Given the description of an element on the screen output the (x, y) to click on. 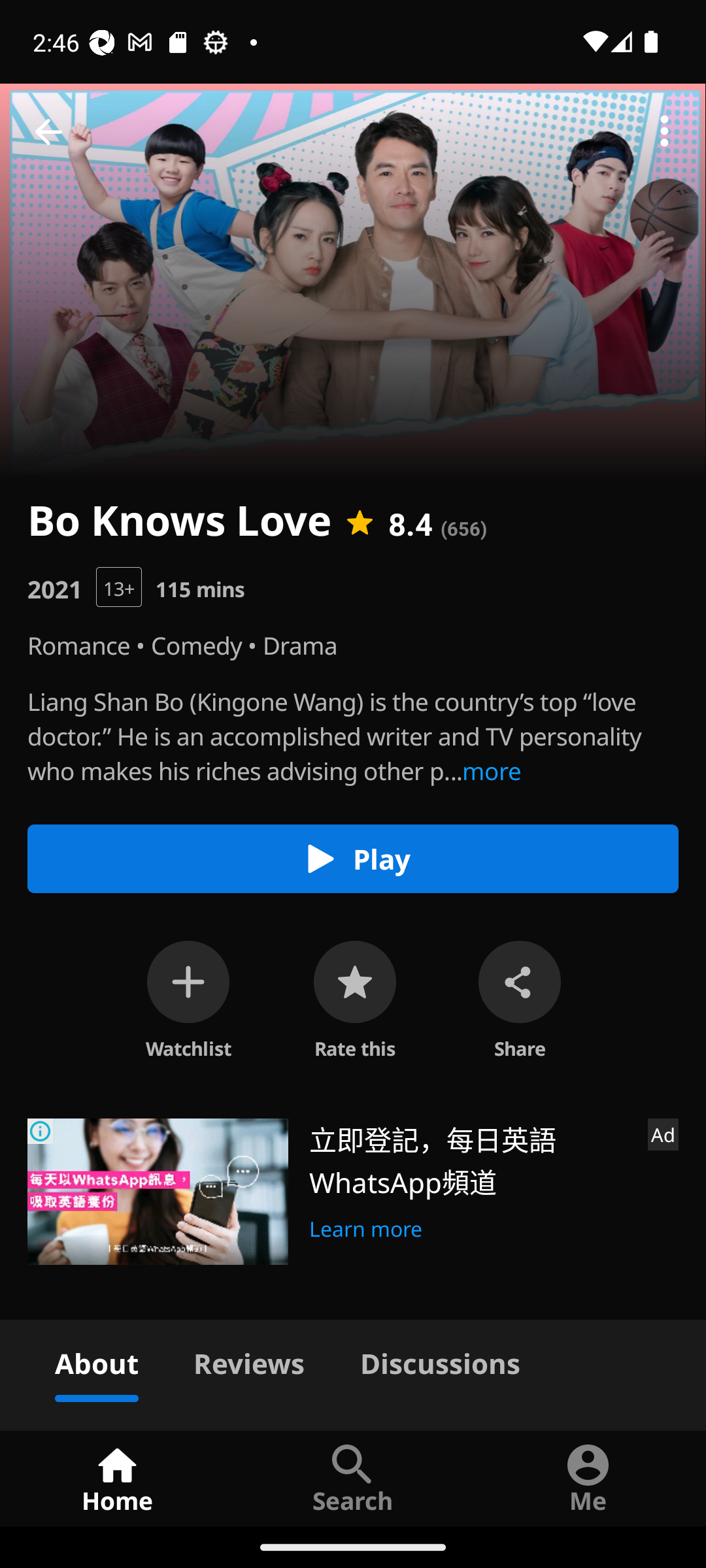
More (664, 131)
off (187, 981)
立即登記，每日英語WhatsApp頻道 Ad Learn more Ad Choices Icon (352, 1191)
Ad Choices Icon (39, 1130)
立即登記，每日英語WhatsApp頻道 (471, 1159)
Learn more (365, 1225)
Reviews (248, 1360)
Discussions (439, 1360)
Search (352, 1478)
Me (588, 1478)
